Given the description of an element on the screen output the (x, y) to click on. 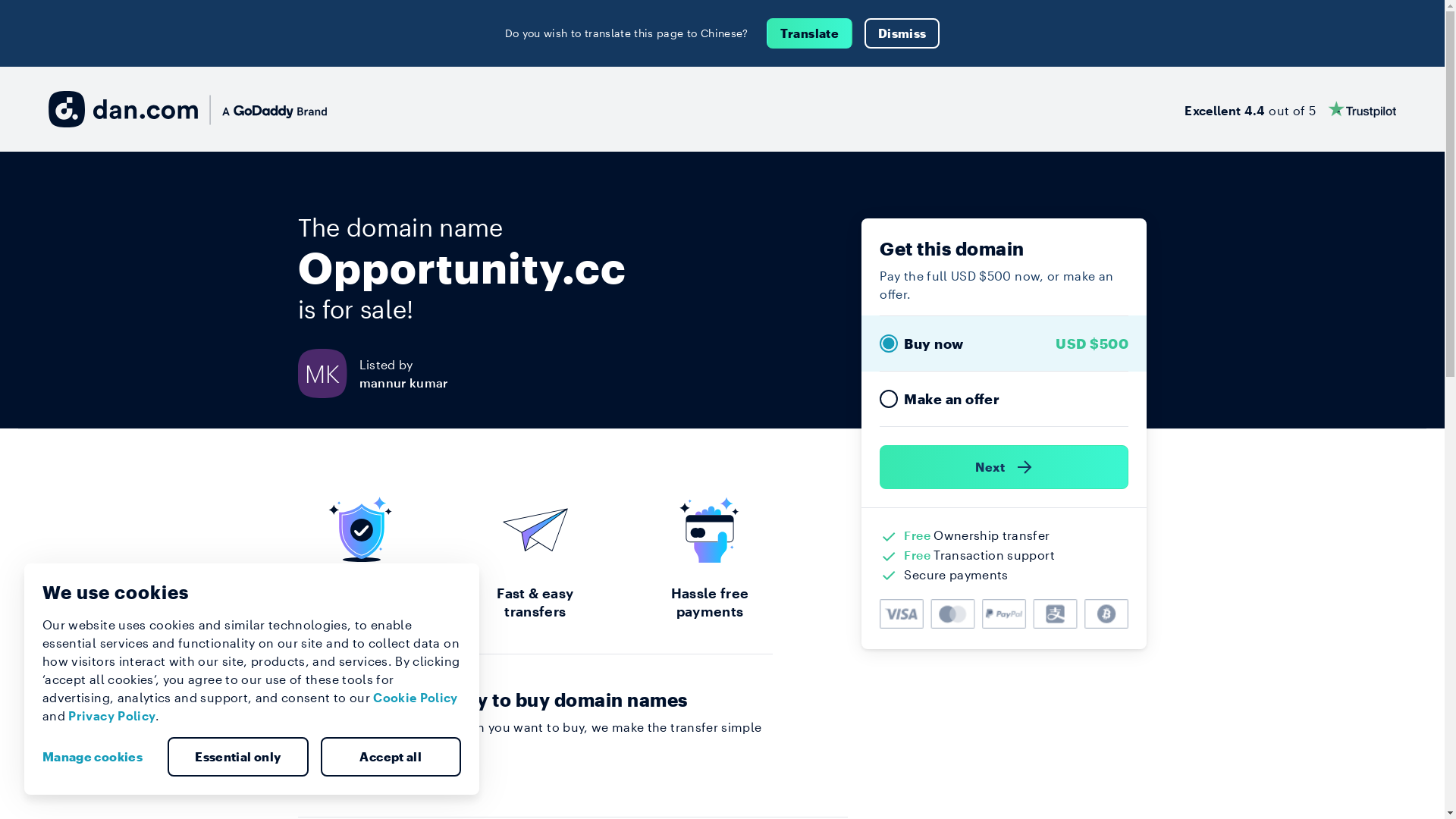
Cookie Policy Element type: text (415, 697)
Dismiss Element type: text (901, 33)
MK Element type: text (327, 373)
Privacy Policy Element type: text (111, 715)
Essential only Element type: text (237, 756)
Accept all Element type: text (390, 756)
Manage cookies Element type: text (98, 756)
Translate Element type: text (809, 33)
Next
) Element type: text (1003, 467)
Excellent 4.4 out of 5 Element type: text (1290, 109)
